Given the description of an element on the screen output the (x, y) to click on. 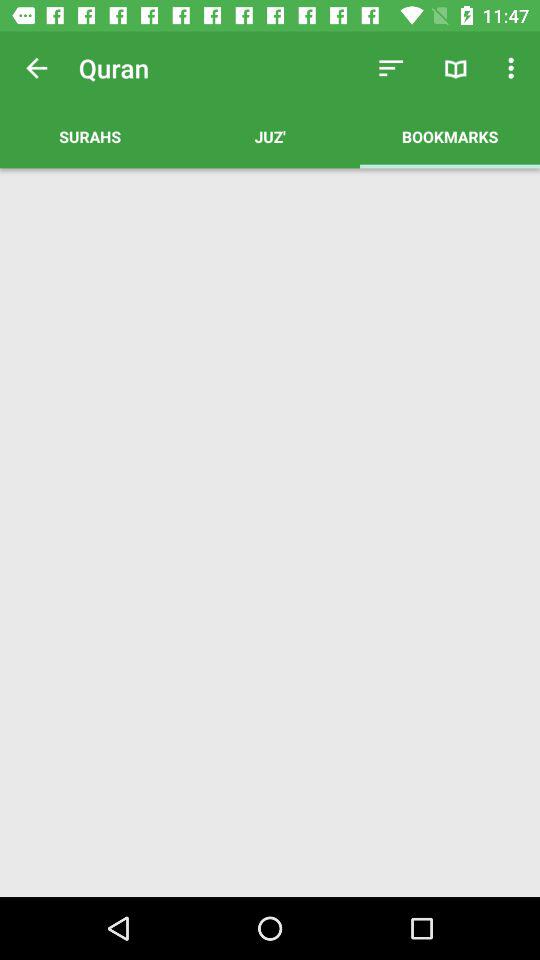
flip to the surahs (90, 136)
